Given the description of an element on the screen output the (x, y) to click on. 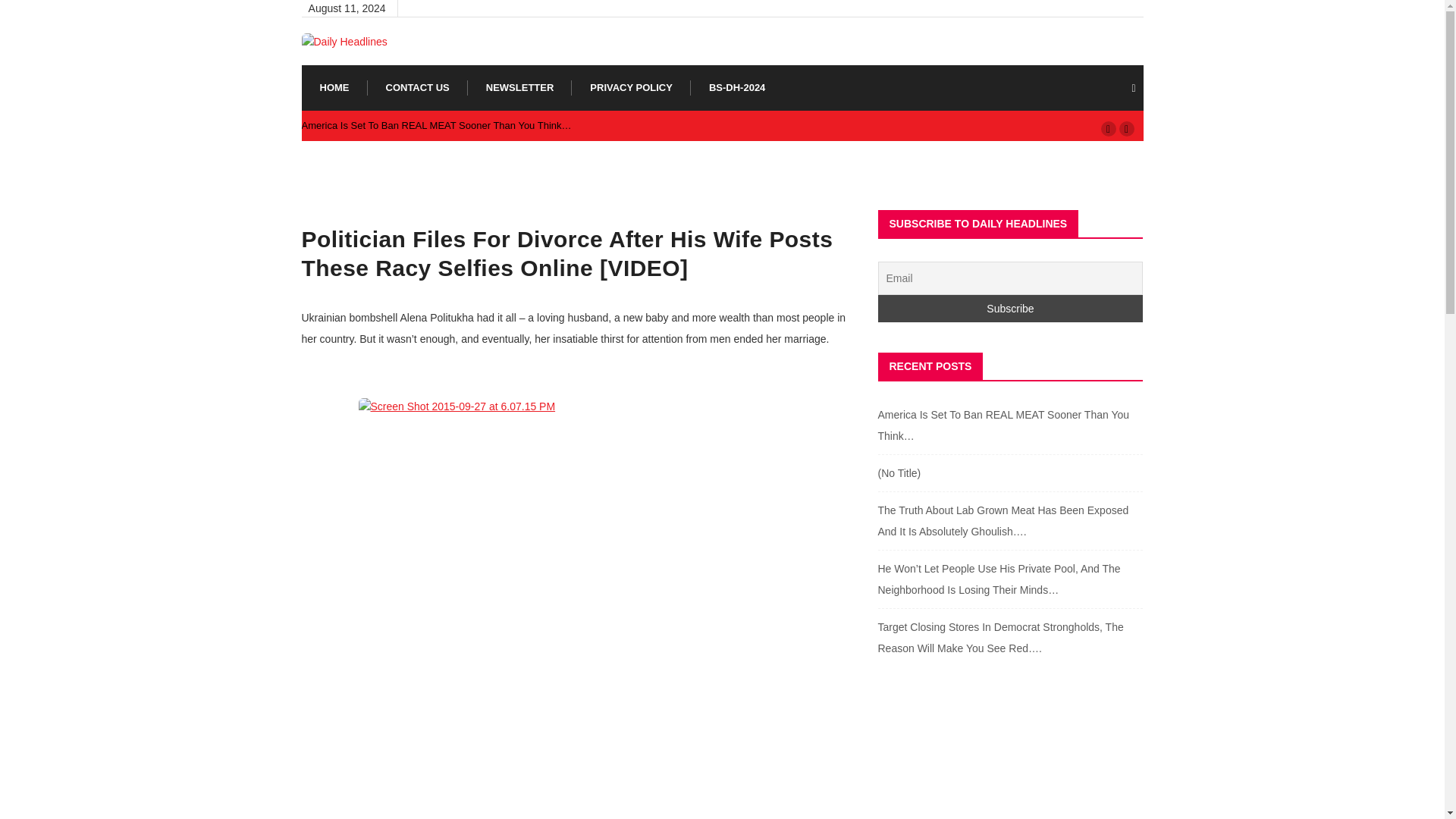
CONTACT US (416, 87)
Subscribe (1009, 308)
NEWSLETTER (520, 87)
BS-DH-2024 (737, 87)
PRIVACY POLICY (630, 87)
